Given the description of an element on the screen output the (x, y) to click on. 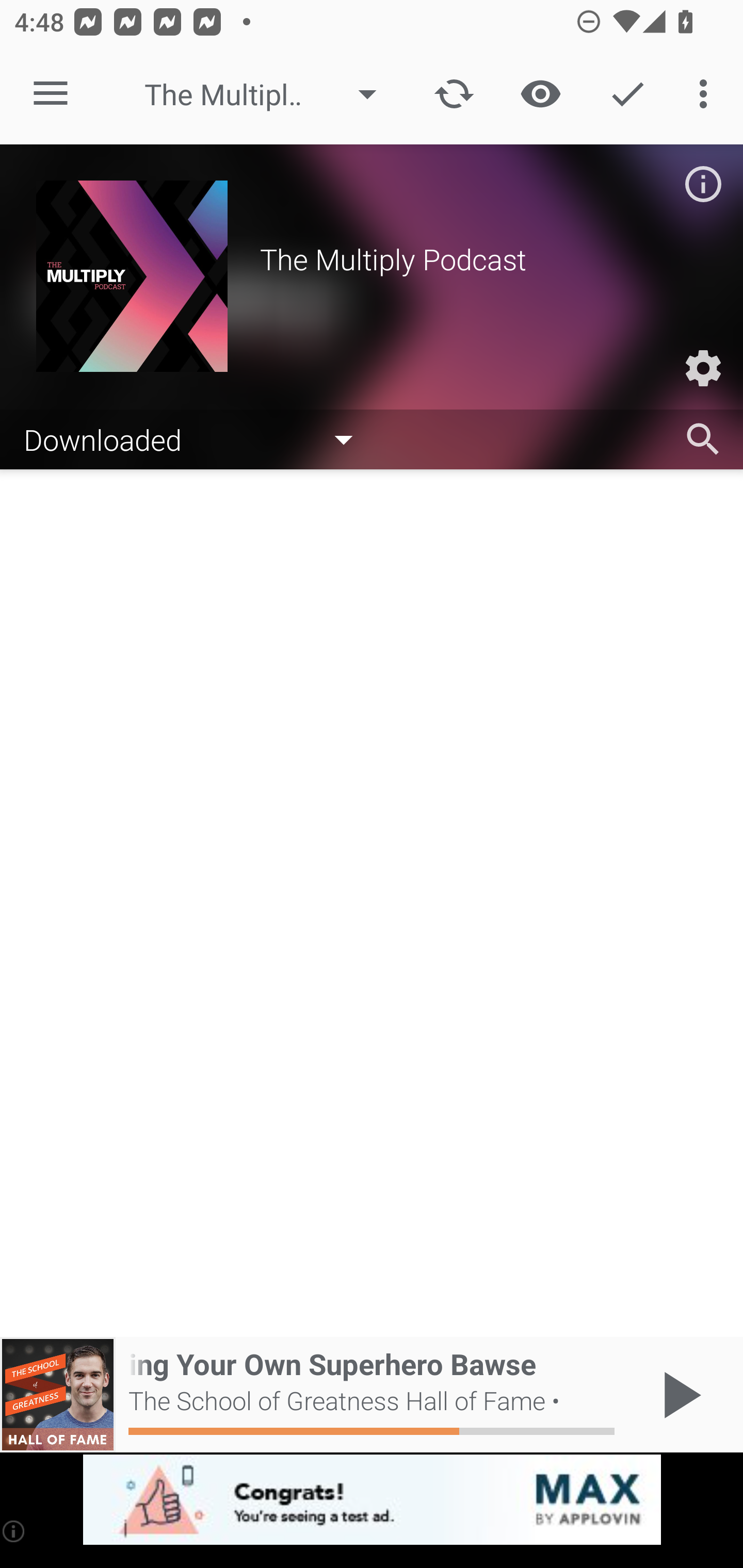
Open navigation sidebar (50, 93)
Update (453, 93)
Show / Hide played content (540, 93)
Action Mode (626, 93)
More options (706, 93)
The Multiply Podcast (270, 94)
Podcast description (703, 184)
Custom Settings (703, 368)
Search (703, 439)
Downloaded (197, 438)
Play / Pause (677, 1394)
app-monetization (371, 1500)
(i) (14, 1531)
